Given the description of an element on the screen output the (x, y) to click on. 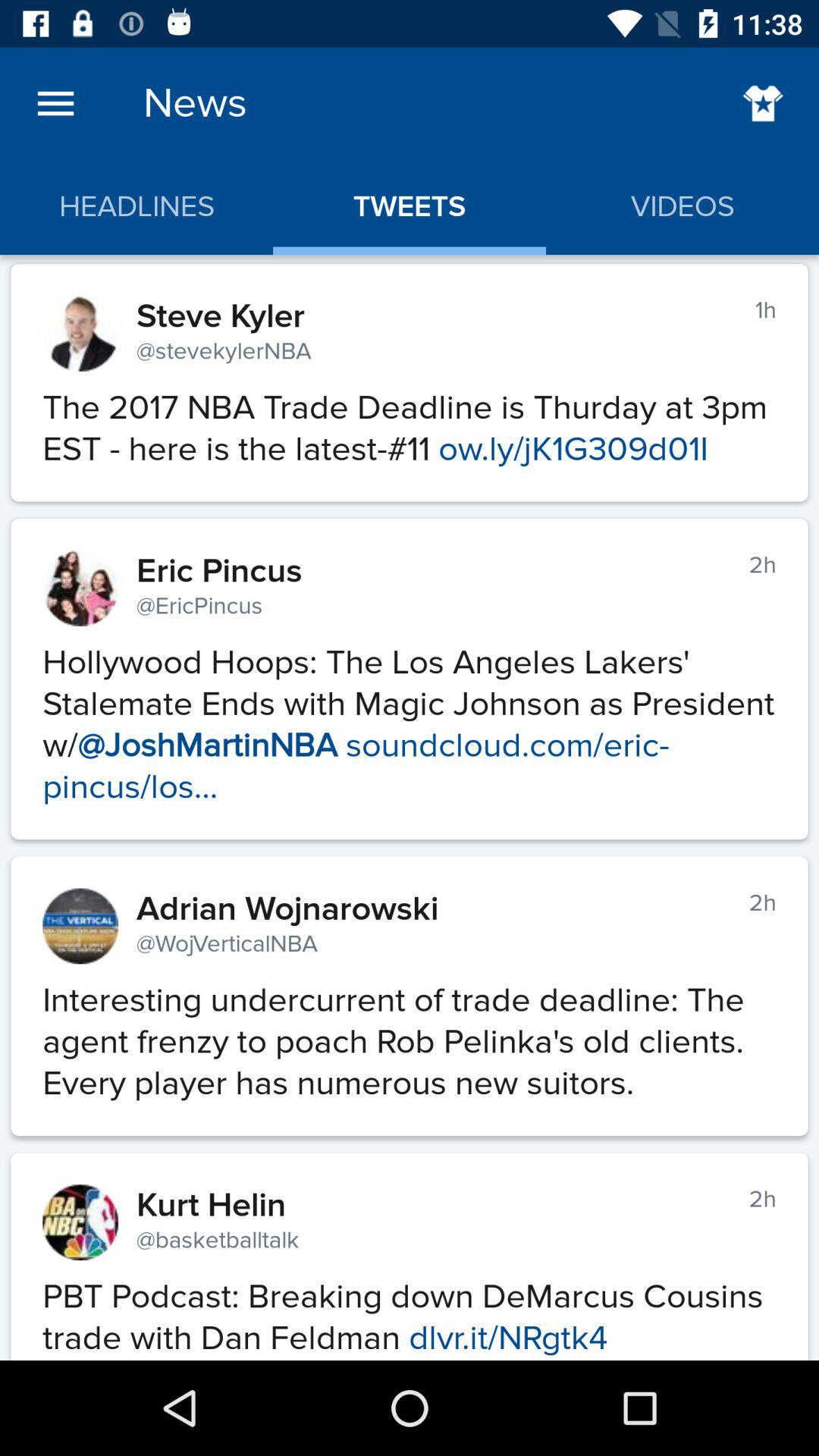
turn on icon to the right of the tweets (763, 103)
